Given the description of an element on the screen output the (x, y) to click on. 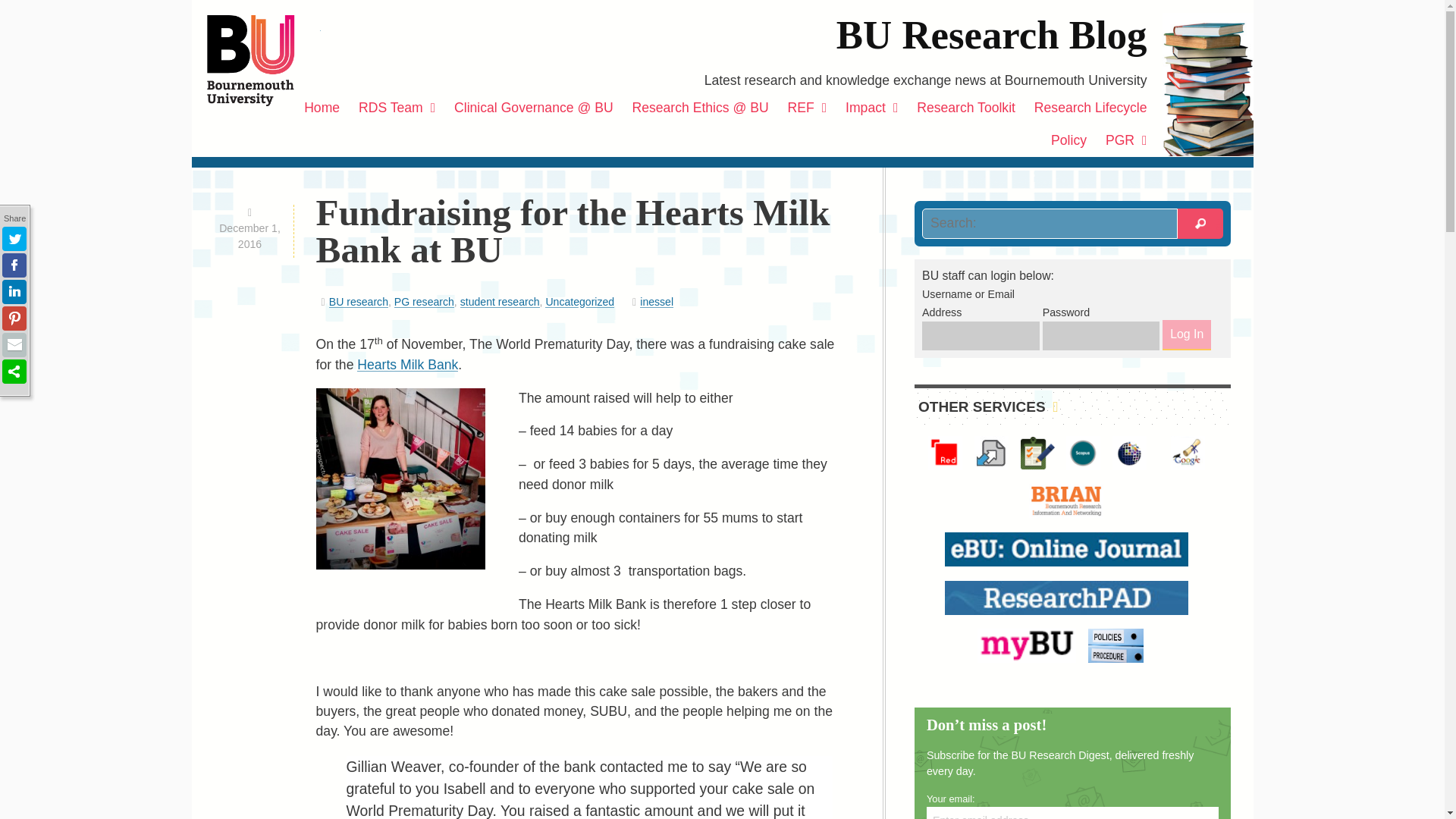
Bournemouth University home page (263, 60)
Posts by inessel (656, 301)
Research Toolkit (965, 107)
RDS Team (396, 107)
REF (807, 107)
Impact (871, 107)
BU Research Blog (991, 34)
Bournemouth University (263, 60)
Search (1200, 223)
Log In (1186, 335)
Enter email address... (1072, 812)
Home (322, 107)
